Given the description of an element on the screen output the (x, y) to click on. 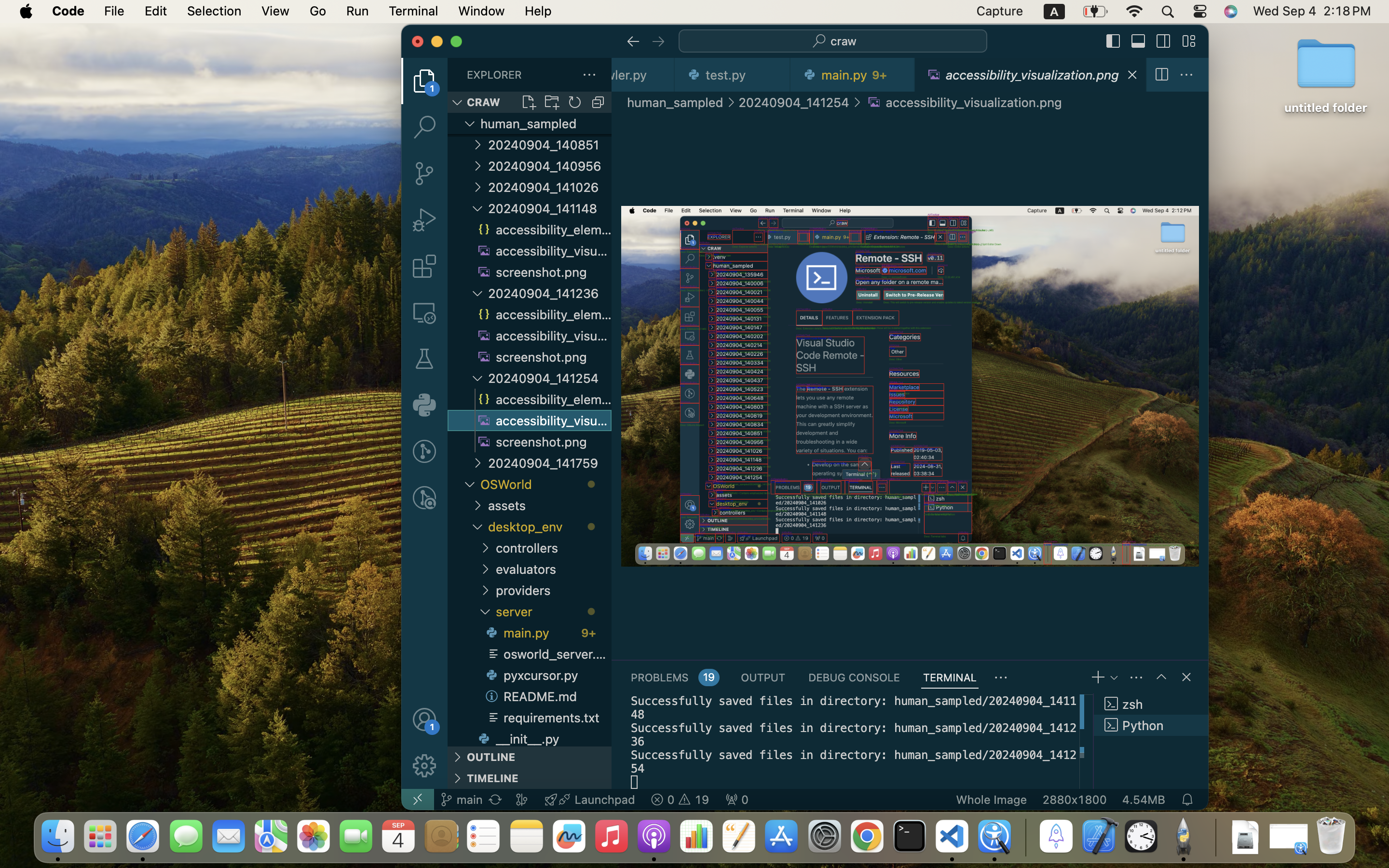
 Element type: AXGroup (424, 266)
0 DEBUG CONSOLE Element type: AXRadioButton (853, 676)
 0 Element type: AXButton (736, 799)
server  Element type: AXGroup (553, 611)
controllers Element type: AXGroup (553, 547)
